Given the description of an element on the screen output the (x, y) to click on. 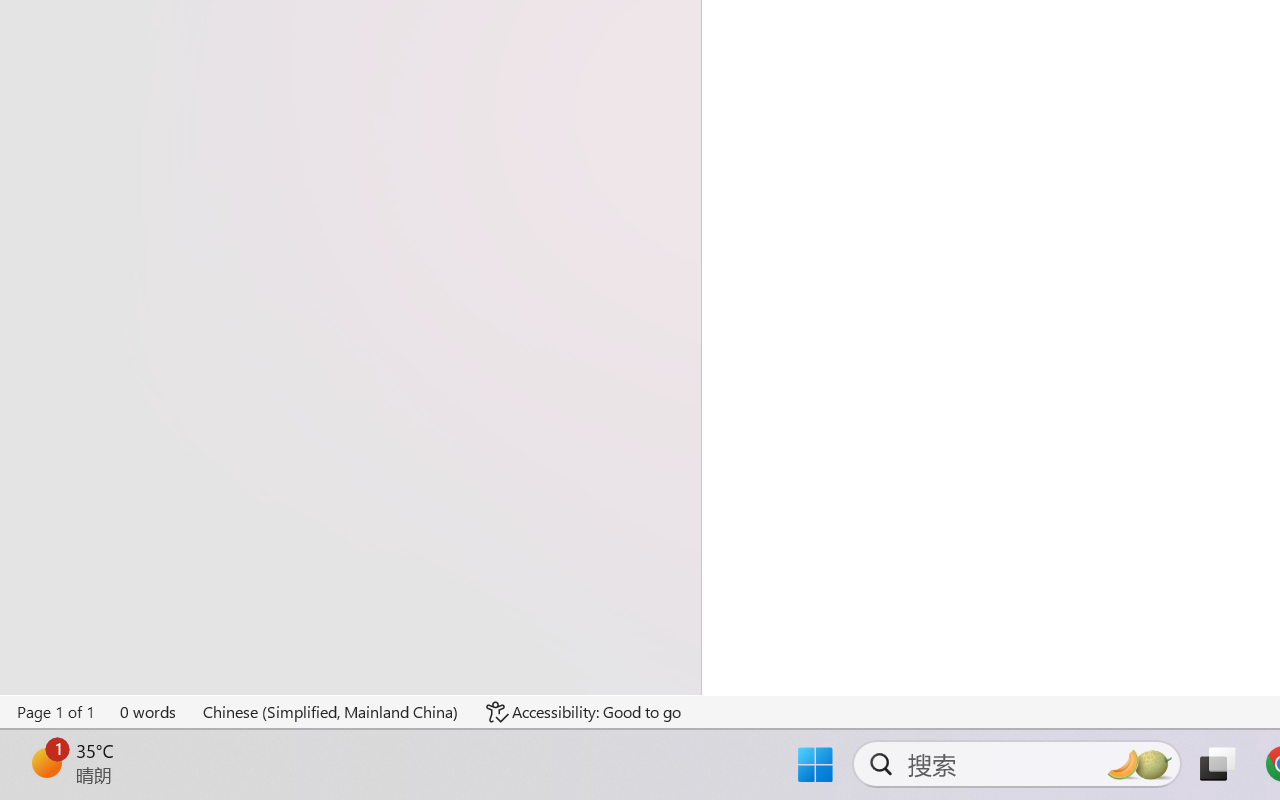
Language Chinese (Simplified, Mainland China) (331, 712)
